Given the description of an element on the screen output the (x, y) to click on. 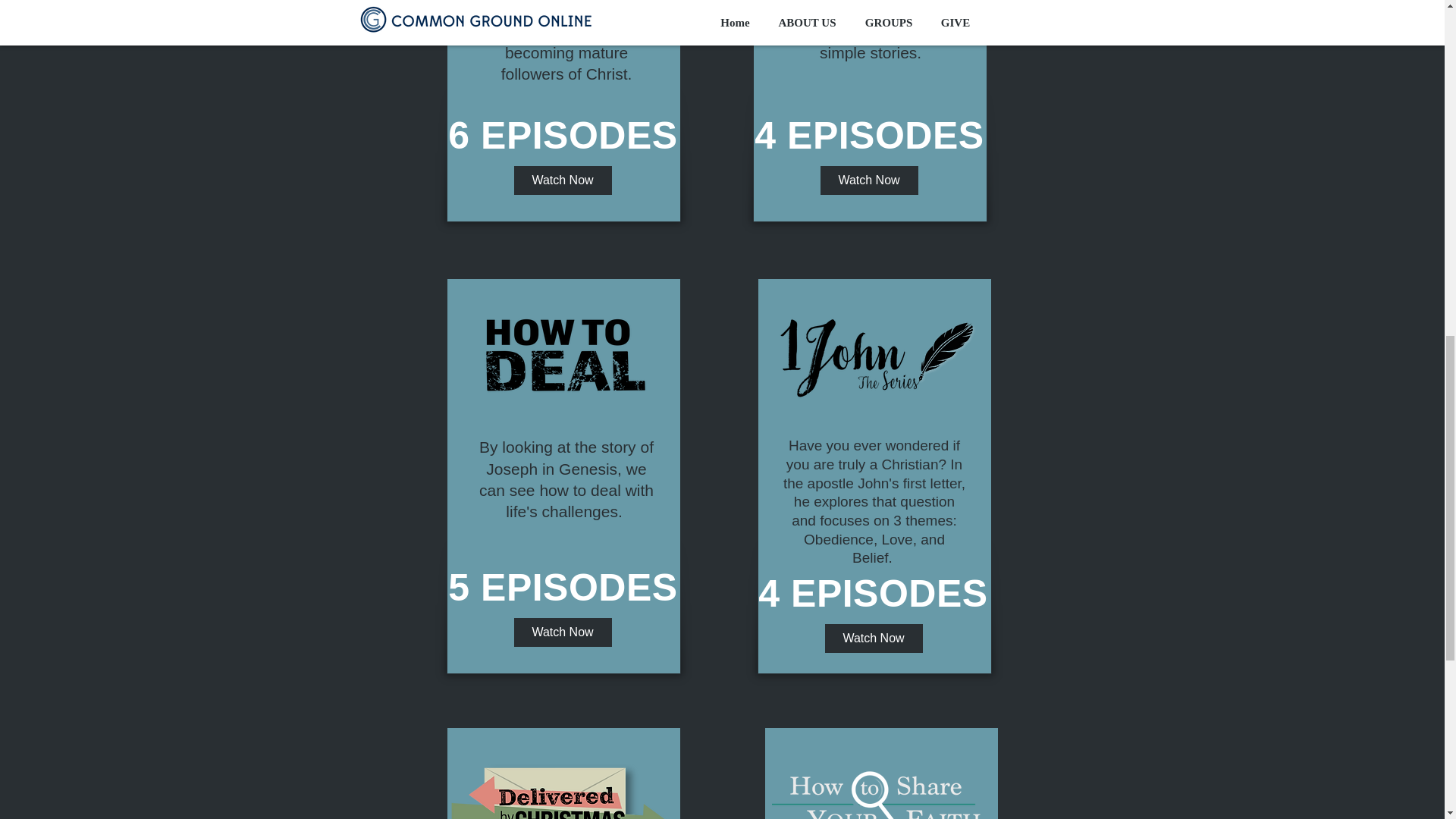
Watch Now (869, 180)
Watch Now (874, 638)
Watch Now (562, 632)
Watch Now (562, 180)
